Given the description of an element on the screen output the (x, y) to click on. 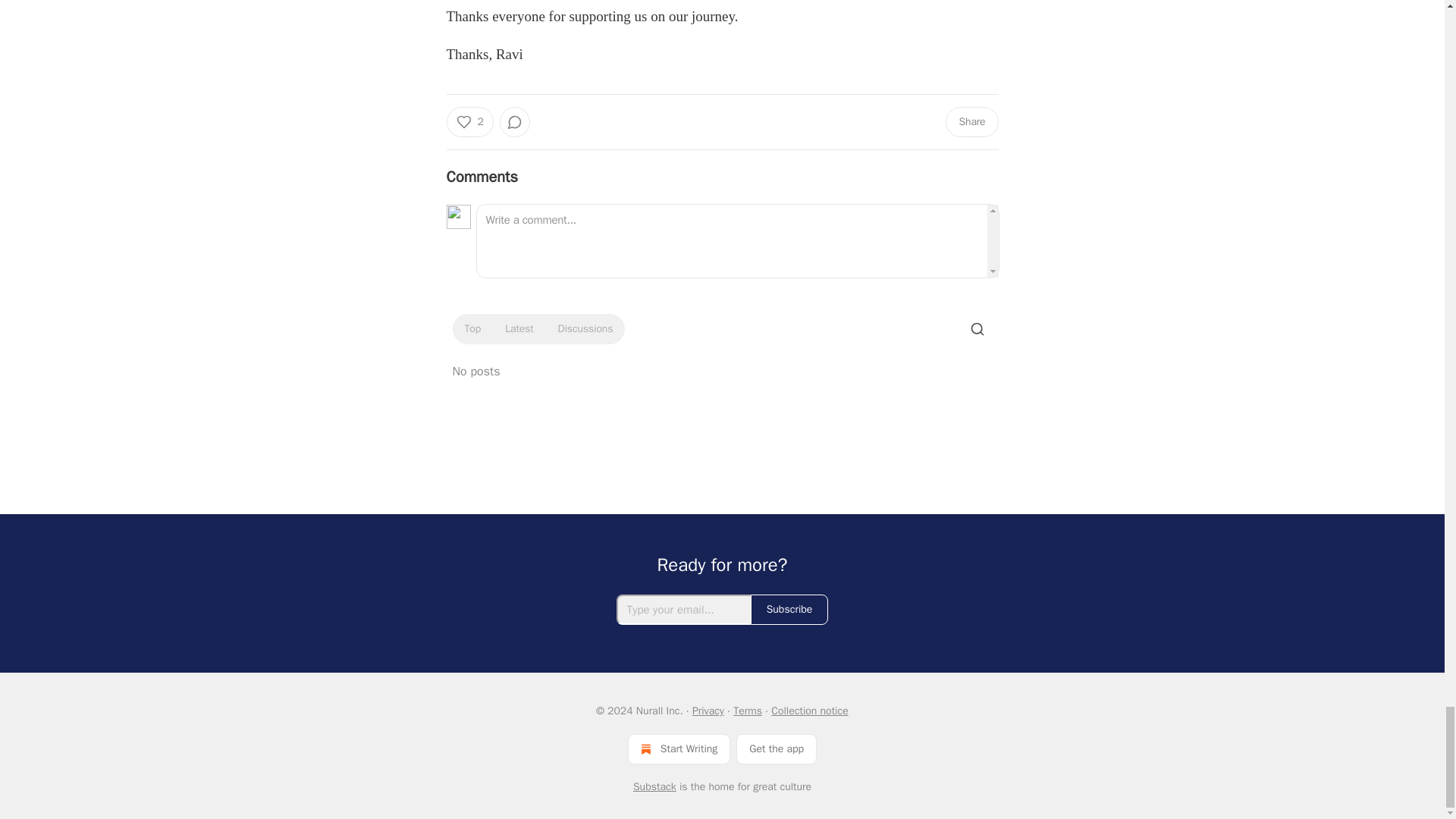
2 (469, 122)
